Given the description of an element on the screen output the (x, y) to click on. 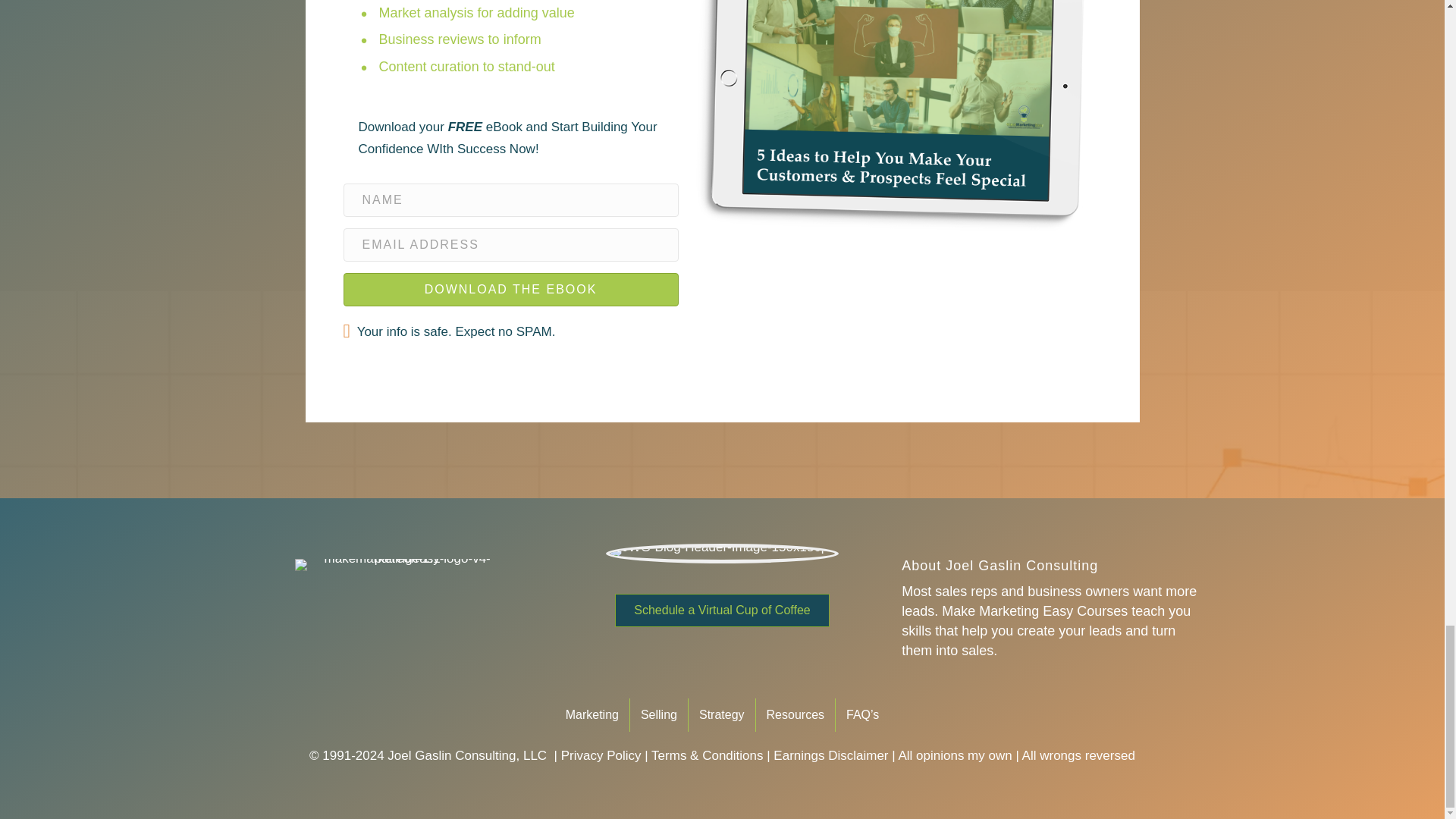
makemarketingeasy-logo-v4-patreon-1.1 (400, 564)
Joel G Mockup iPad2 (889, 146)
JWG-Blog-Header-Image-150x150px (721, 553)
